Given the description of an element on the screen output the (x, y) to click on. 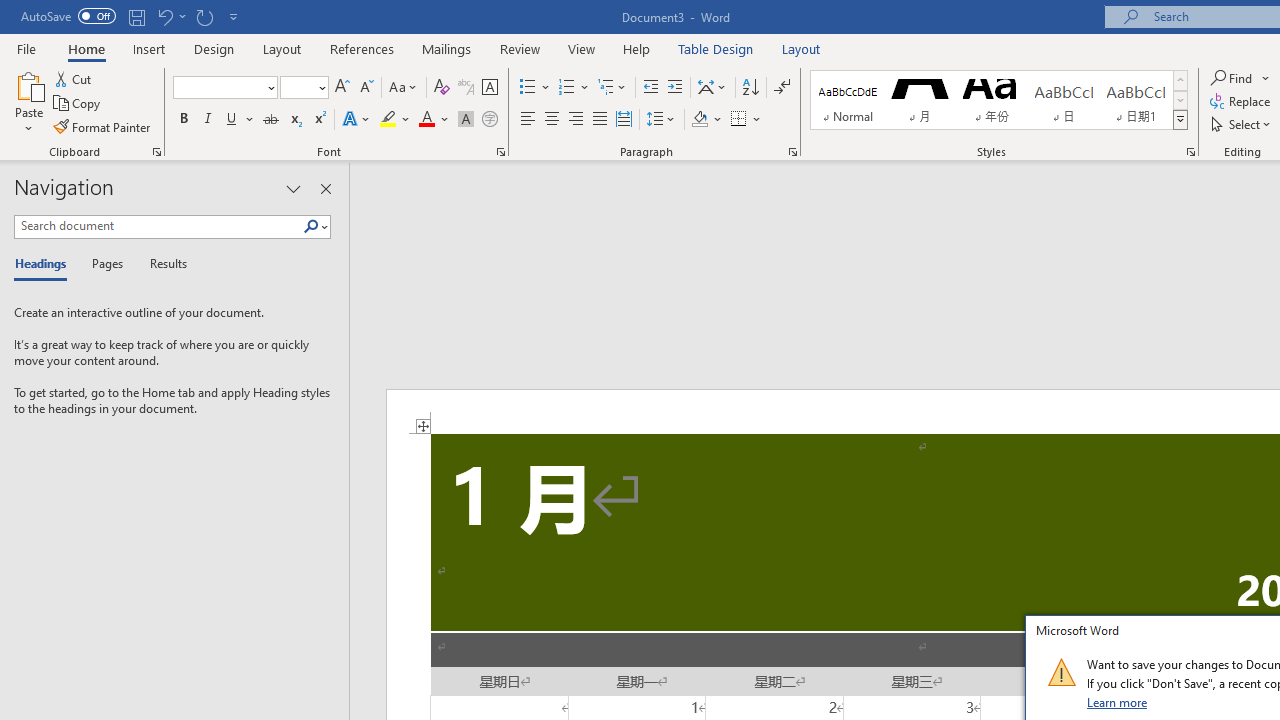
Show/Hide Editing Marks (781, 87)
Character Border (489, 87)
Search (315, 227)
Font... (500, 151)
Shading RGB(0, 0, 0) (699, 119)
Search (311, 227)
Bold (183, 119)
Center (552, 119)
Insert (149, 48)
Paste (28, 84)
Review (520, 48)
Home (86, 48)
Numbering (573, 87)
